Given the description of an element on the screen output the (x, y) to click on. 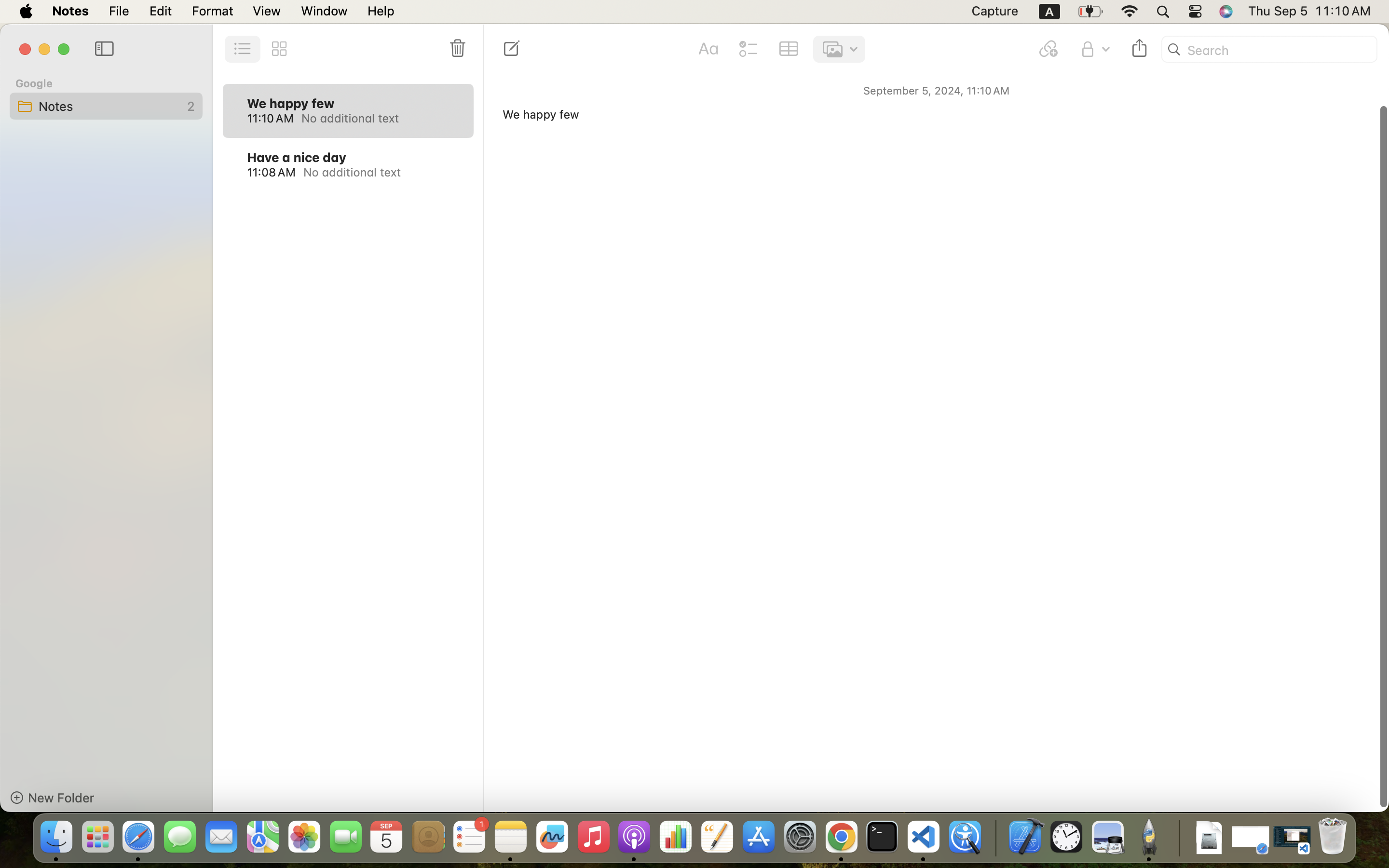
Locked Notes Element type: AXStaticText (1078, 206)
Notes with Tags Element type: AXStaticText (1078, 248)
Notes with Drawings Element type: AXStaticText (1078, 269)
11:08 AM Element type: AXStaticText (271, 171)
